Given the description of an element on the screen output the (x, y) to click on. 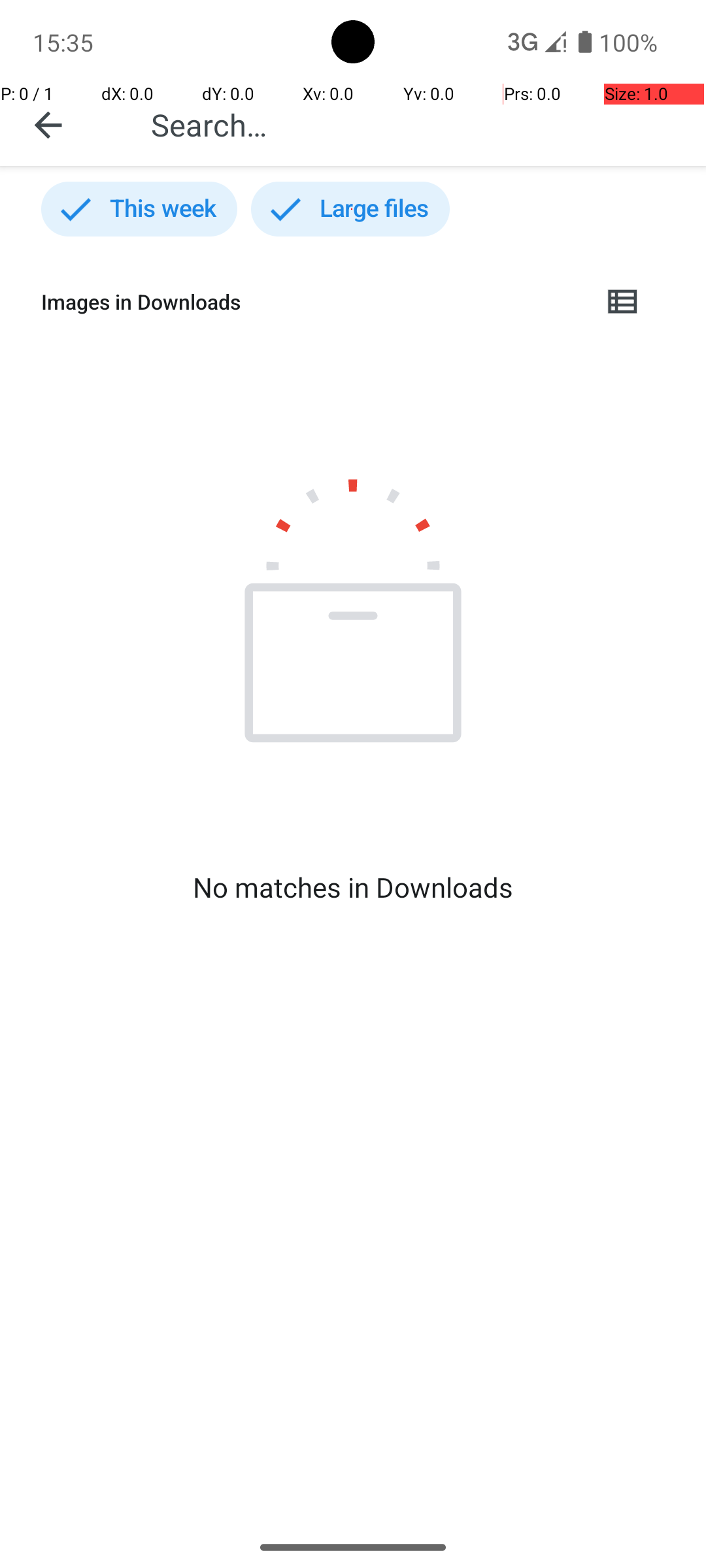
Images in Downloads Element type: android.widget.TextView (311, 301)
